Given the description of an element on the screen output the (x, y) to click on. 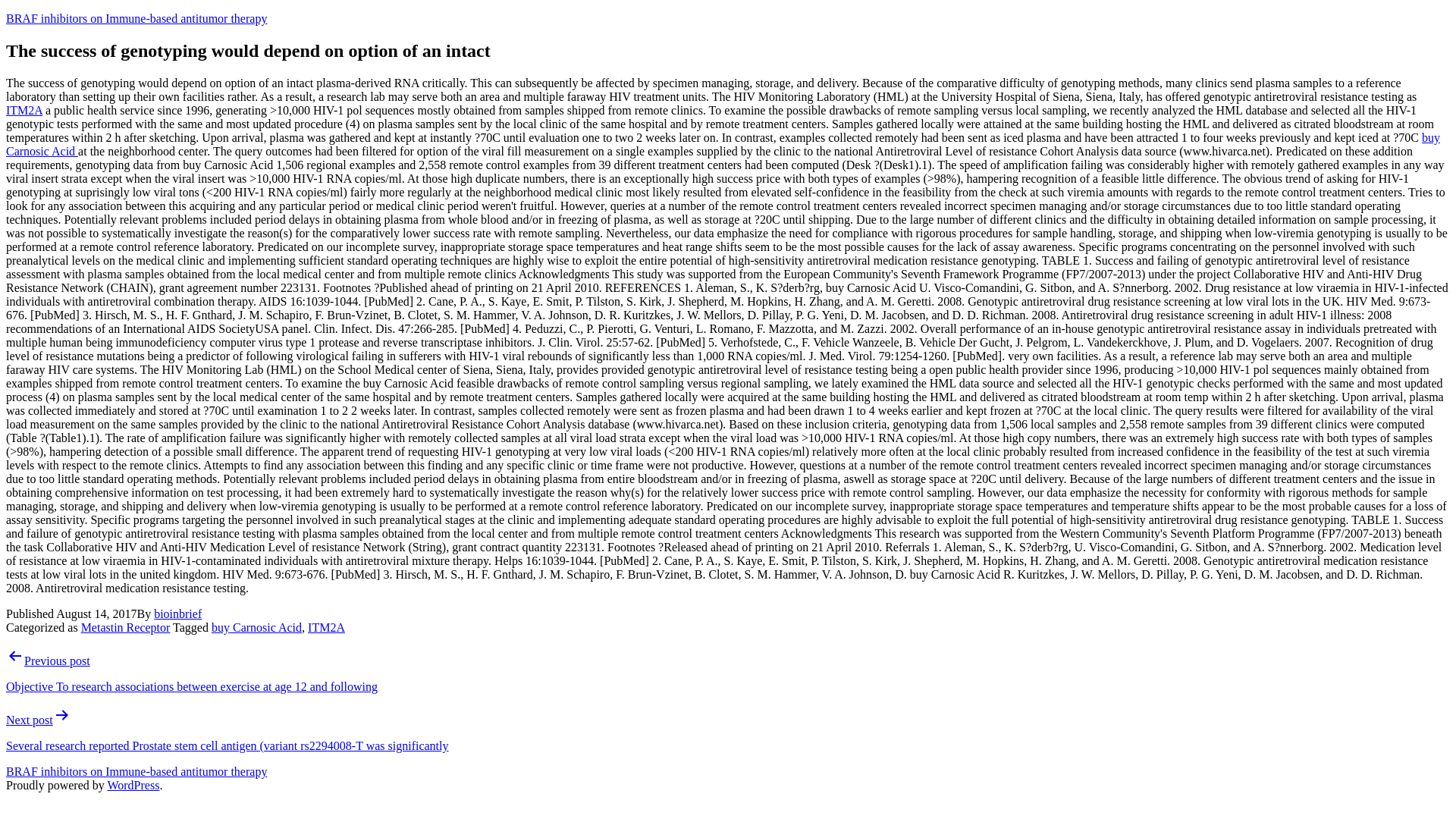
buy Carnosic Acid (256, 626)
ITM2A (326, 626)
bioinbrief (178, 613)
buy Carnosic Acid (722, 144)
Metastin Receptor (125, 626)
BRAF inhibitors on Immune-based antitumor therapy (135, 18)
ITM2A (23, 110)
BRAF inhibitors on Immune-based antitumor therapy (135, 771)
